Given the description of an element on the screen output the (x, y) to click on. 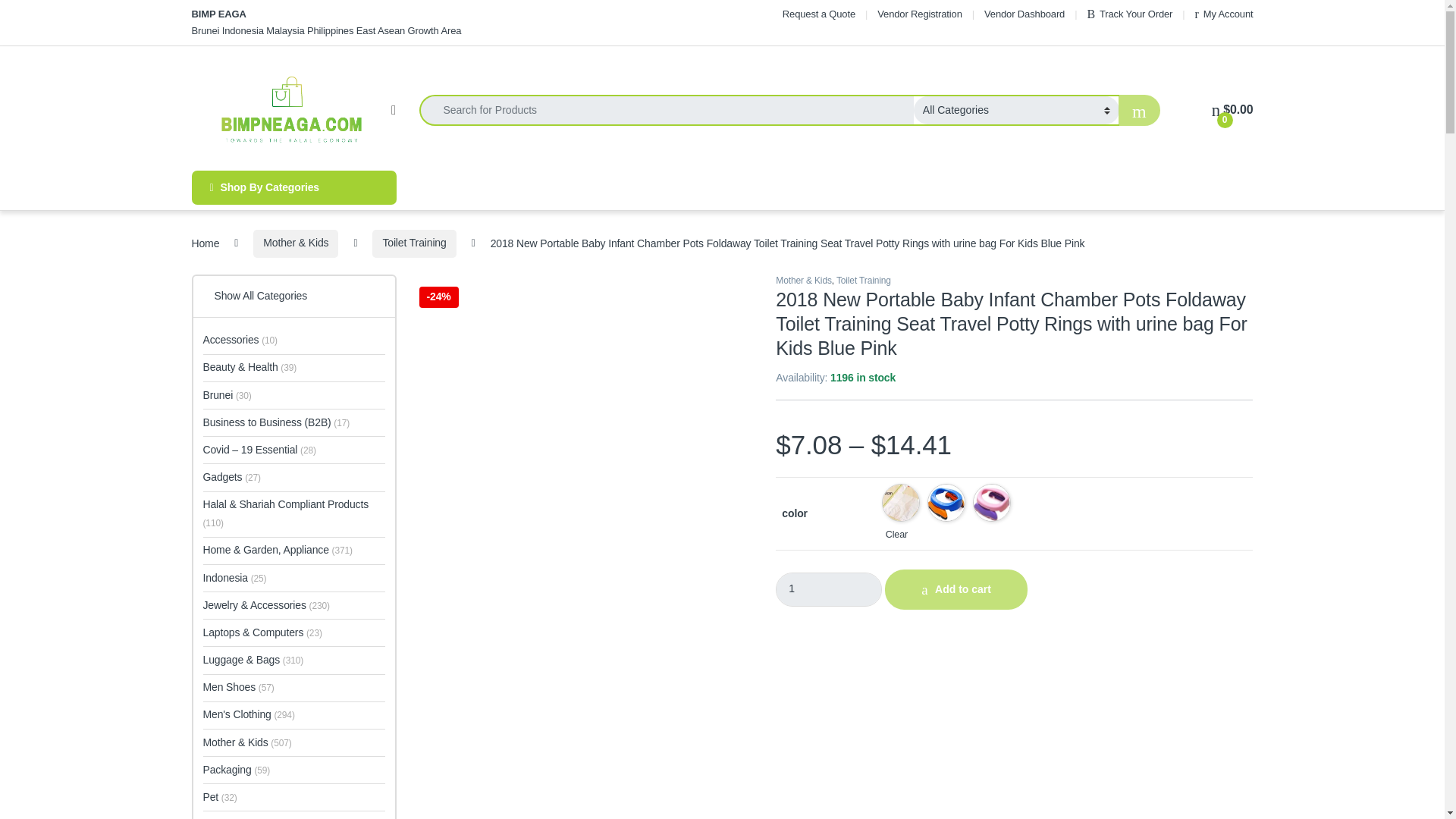
Request a Quote (819, 13)
Track Your Order (1129, 13)
Vendor Registration (919, 13)
Vendor Dashboard (1024, 13)
Track Your Order (1129, 13)
My Account (1224, 13)
Vendor Dashboard (1024, 13)
1 (829, 589)
Request a Quote (819, 13)
